Given the description of an element on the screen output the (x, y) to click on. 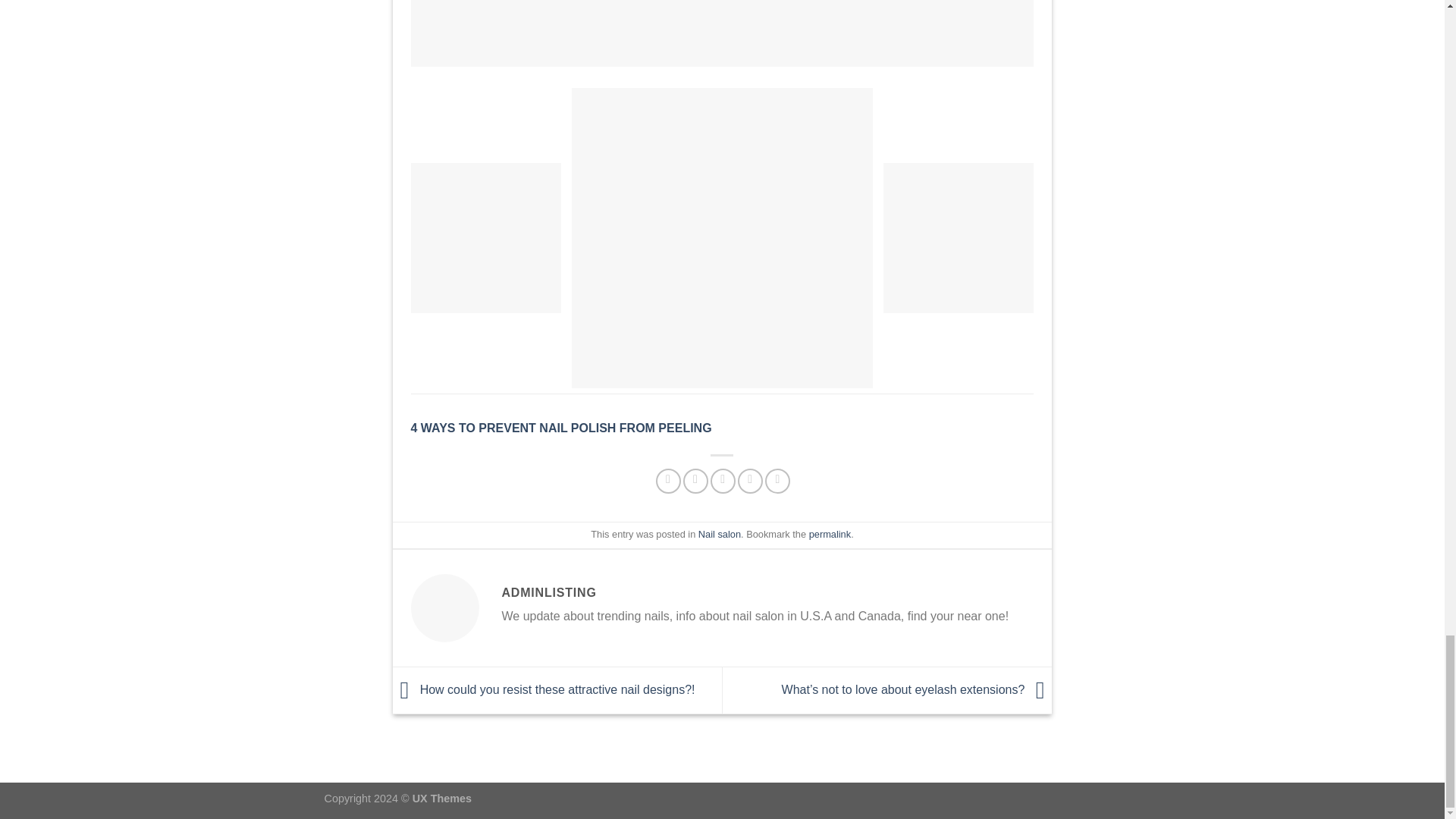
Share on Facebook (668, 480)
Pin on Pinterest (750, 480)
permalink (829, 533)
Share on LinkedIn (777, 480)
4 WAYS TO PREVENT NAIL POLISH FROM PEELING (560, 427)
Nail salon (719, 533)
How could you resist these attractive nail designs?! (544, 689)
Share on Twitter (694, 480)
Email to a Friend (722, 480)
